Given the description of an element on the screen output the (x, y) to click on. 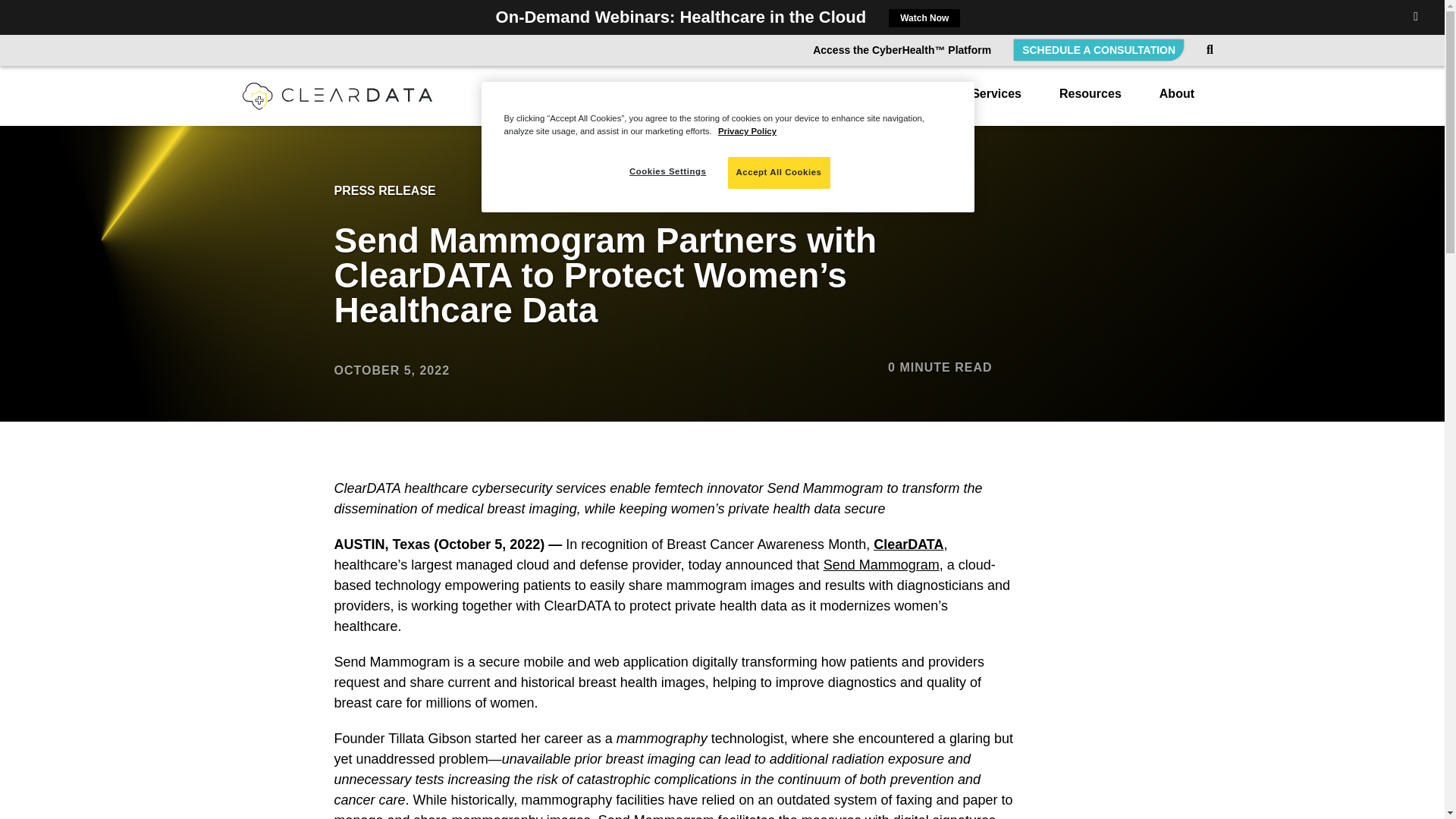
Resources (1090, 101)
Solutions (905, 101)
Services (996, 101)
SCHEDULE A CONSULTATION (1098, 49)
Watch Now (923, 18)
